Given the description of an element on the screen output the (x, y) to click on. 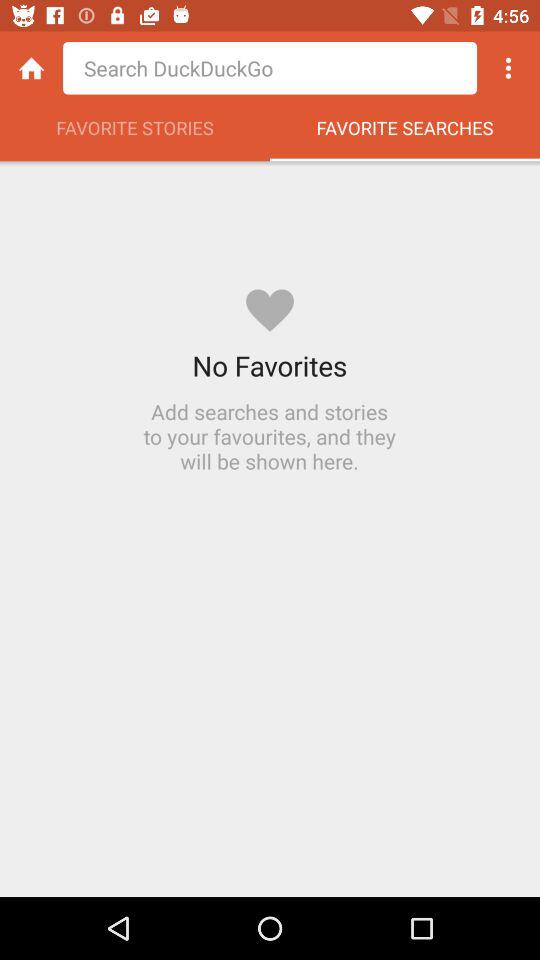
jump to favorite stories item (135, 133)
